Given the description of an element on the screen output the (x, y) to click on. 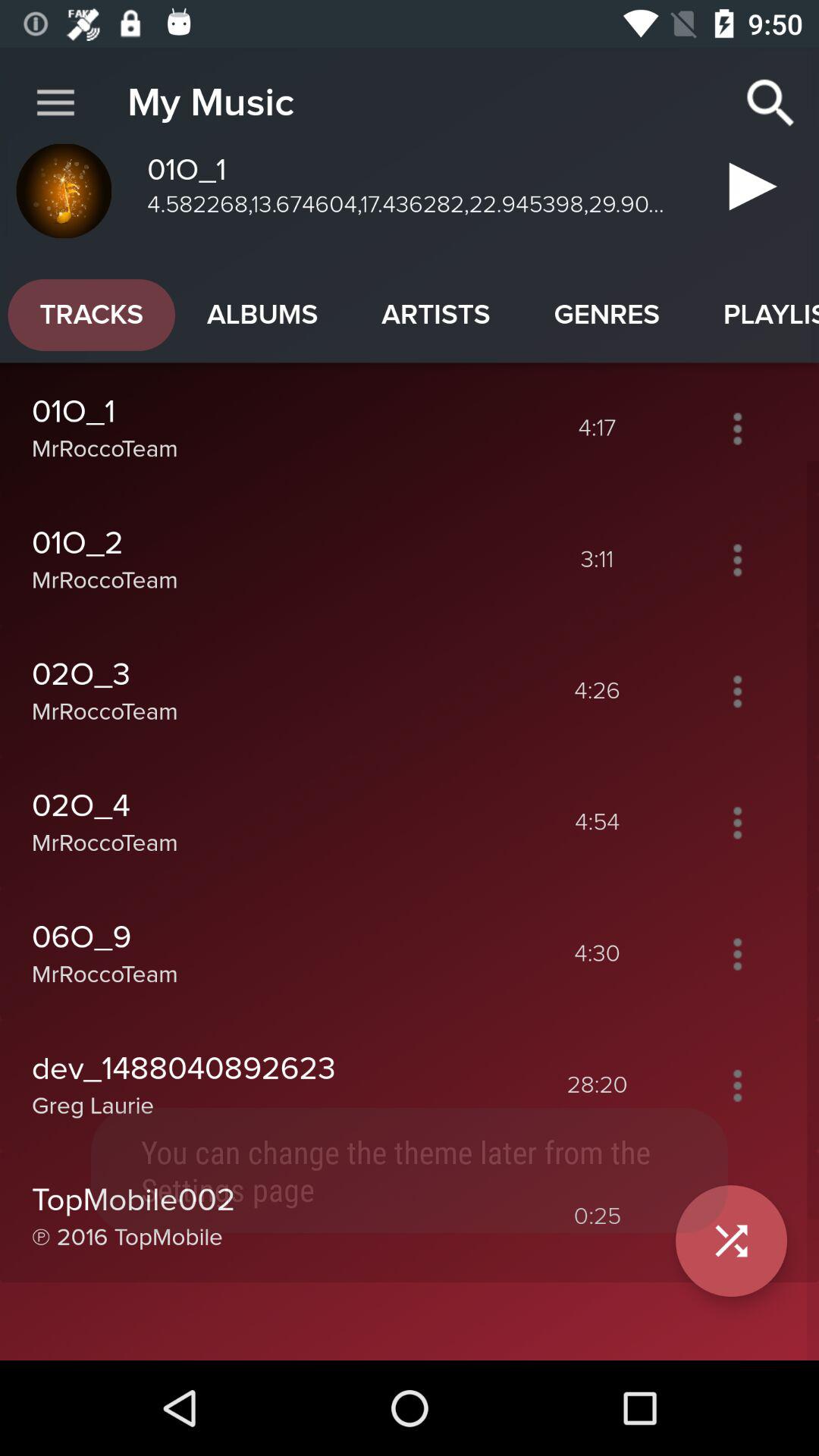
play (737, 1216)
